Given the description of an element on the screen output the (x, y) to click on. 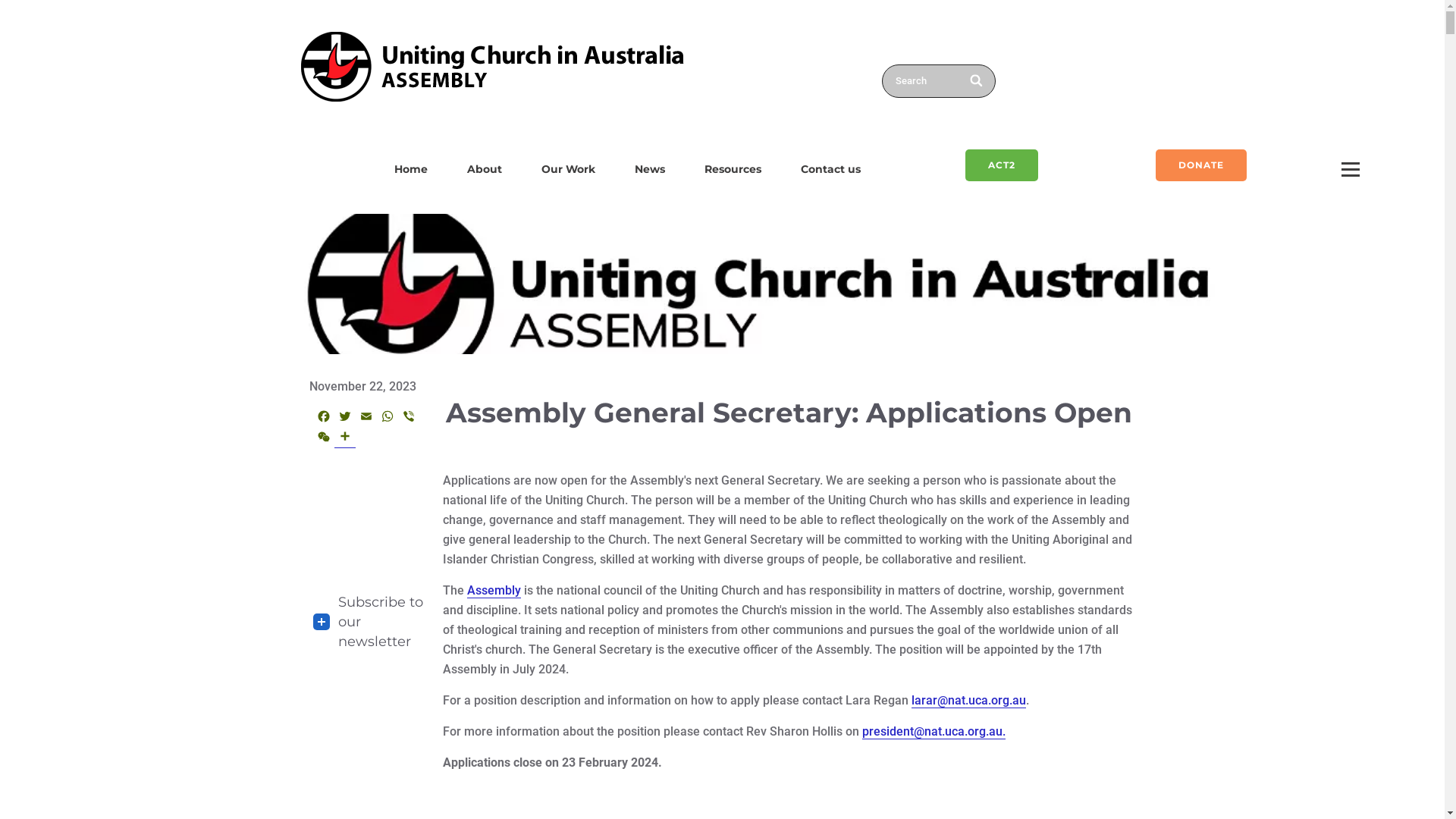
Resources Element type: text (732, 169)
Viber Element type: text (407, 417)
president@nat.uca.org.au. Element type: text (933, 731)
Home Element type: text (410, 169)
About Element type: text (484, 169)
larar@nat.uca.org.au Element type: text (968, 700)
Twitter Element type: text (343, 417)
Facebook Element type: text (322, 417)
News Element type: text (649, 169)
Email Element type: text (365, 417)
WhatsApp Element type: text (386, 417)
Share Element type: text (343, 438)
ACT2 Element type: text (1001, 165)
Search Element type: hover (937, 80)
uniting-church-in-australia-assembly-logo Element type: hover (492, 66)
Contact us Element type: text (830, 169)
DONATE Element type: text (1200, 165)
Our Work Element type: text (568, 169)
Assembly Element type: text (493, 590)
WeChat Element type: text (322, 438)
